Given the description of an element on the screen output the (x, y) to click on. 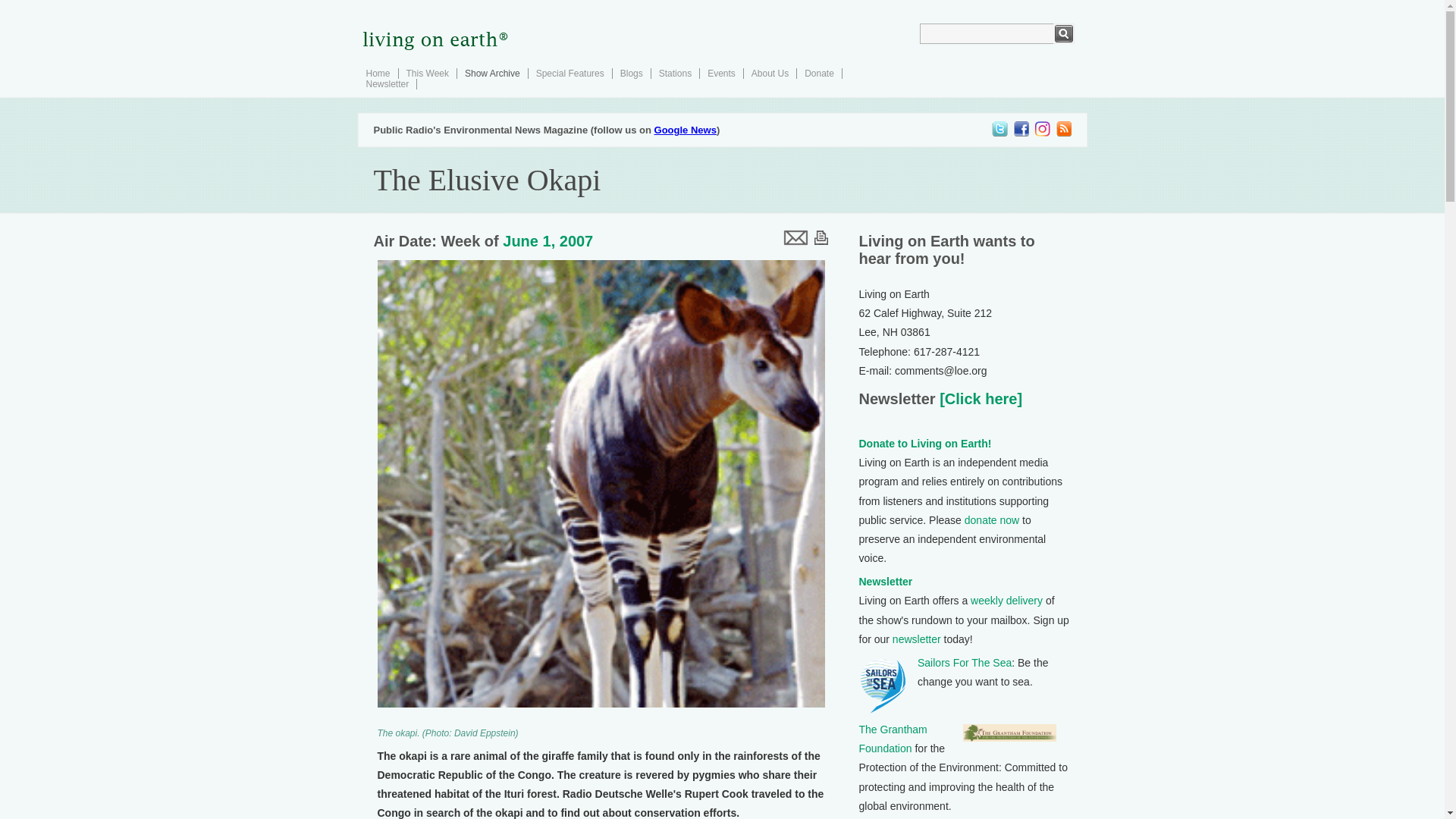
Home (377, 72)
This Week (427, 72)
Newsletter (387, 83)
email (794, 236)
Newsletter (885, 581)
About Us (770, 72)
June 1, 2007 (547, 240)
print (819, 236)
Special Features (569, 72)
Google News (684, 129)
